Given the description of an element on the screen output the (x, y) to click on. 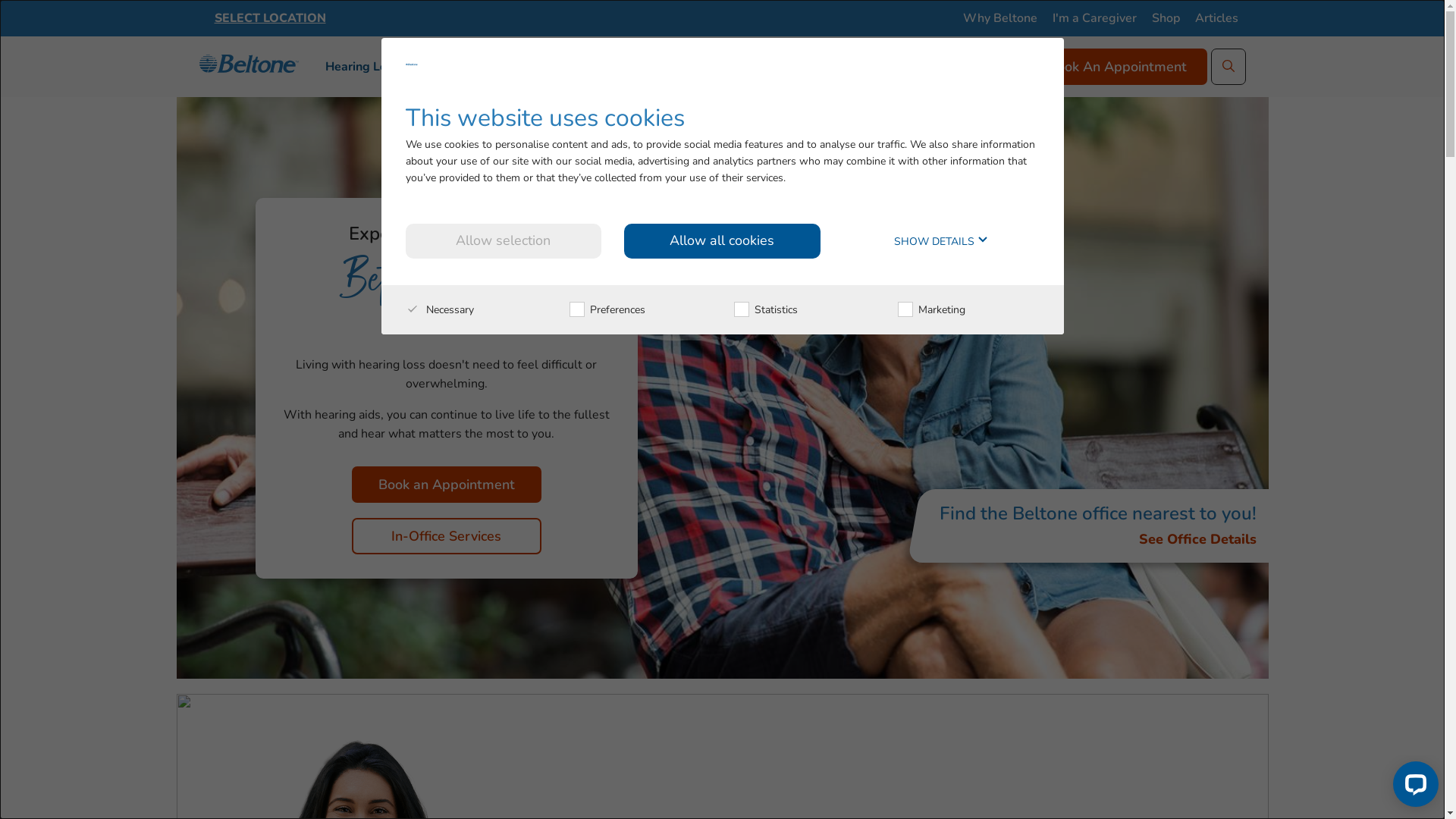
Shop Element type: text (1165, 17)
I'm a Caregiver Element type: text (1094, 17)
Online Hearing Test Element type: text (935, 66)
Hearing Loss Element type: text (366, 66)
Why Beltone Element type: text (1000, 17)
Products Element type: text (655, 66)
See Office Details Element type: text (1197, 539)
Book an Appointment Element type: text (446, 484)
Services Element type: text (729, 66)
Help Center Element type: text (569, 66)
SHOW DETAILS Element type: text (941, 241)
Allow all cookies Element type: text (722, 240)
Allow selection Element type: text (502, 240)
In-Office Services Element type: text (446, 535)
Articles Element type: text (1216, 17)
Healthy Aging Element type: text (470, 66)
Book An Appointment Element type: text (1116, 66)
SELECT LOCATION Element type: text (269, 17)
